Given the description of an element on the screen output the (x, y) to click on. 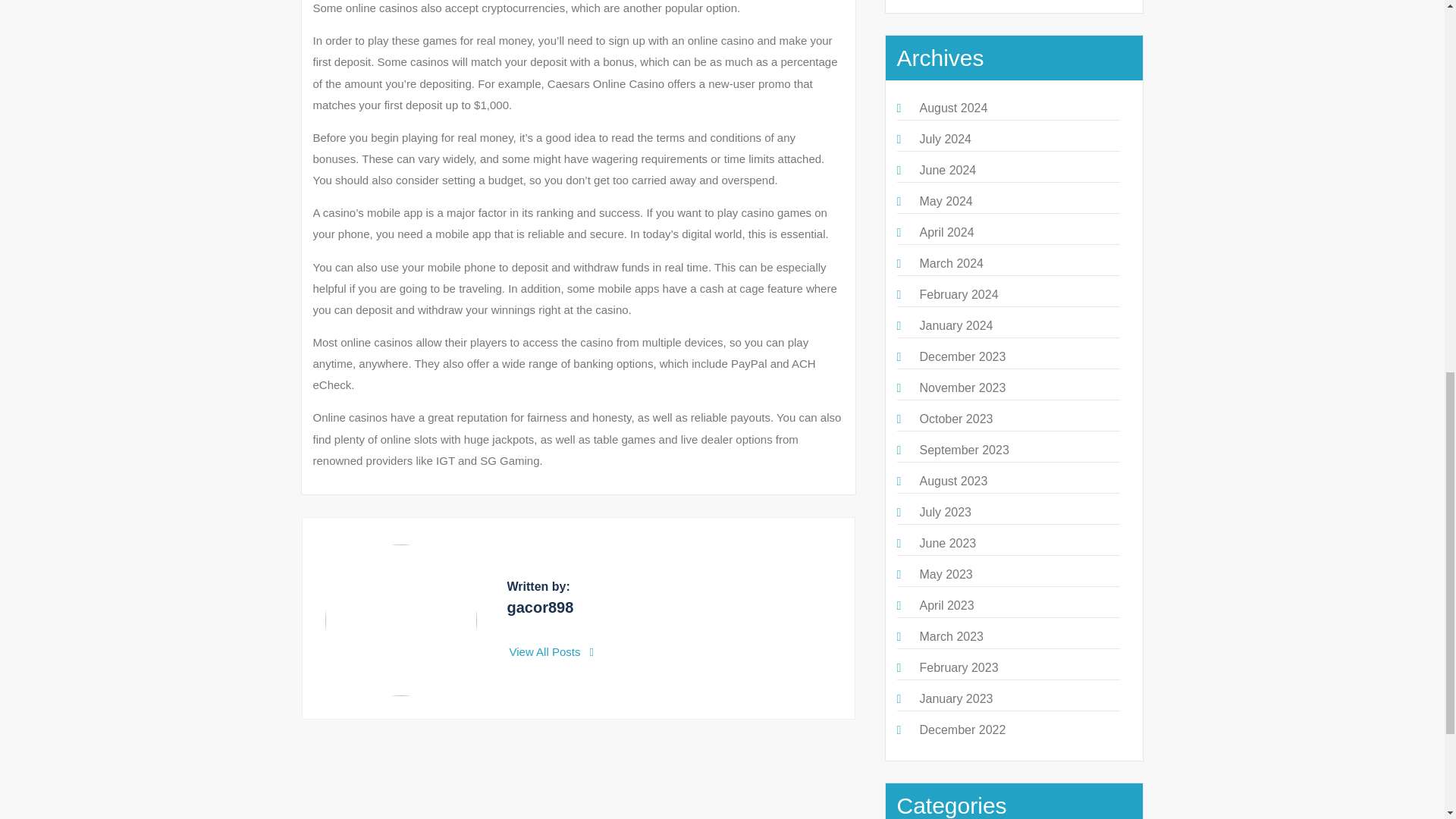
February 2024 (957, 294)
April 2023 (946, 604)
March 2023 (951, 635)
March 2024 (951, 263)
January 2024 (955, 325)
July 2023 (944, 512)
August 2024 (952, 107)
View All Posts (551, 651)
October 2023 (955, 418)
September 2023 (963, 449)
June 2023 (946, 543)
May 2024 (945, 201)
January 2023 (955, 698)
December 2022 (962, 729)
April 2024 (946, 232)
